Given the description of an element on the screen output the (x, y) to click on. 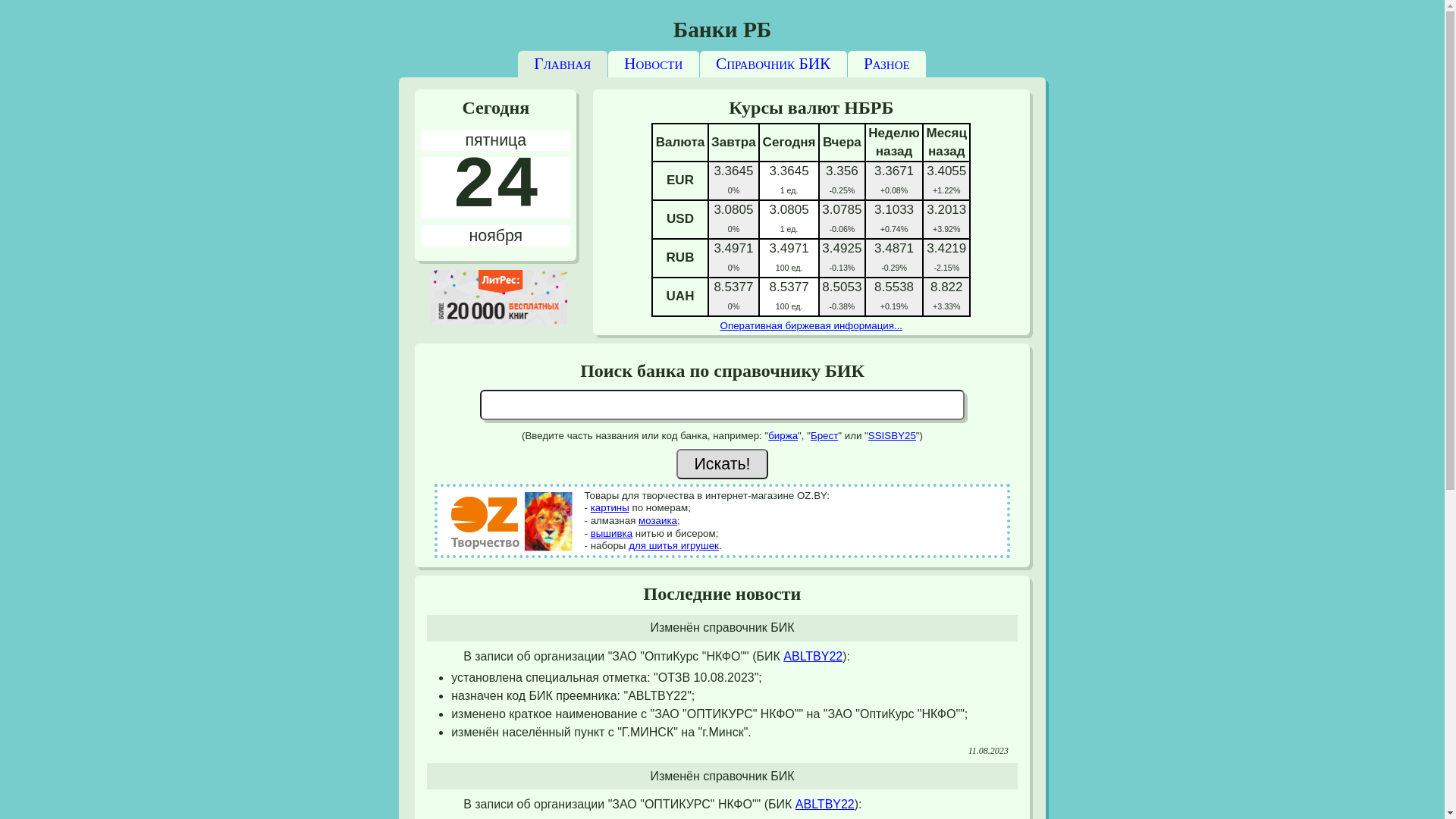
ABLTBY22 Element type: text (812, 655)
ABLTBY22 Element type: text (824, 803)
SSISBY25 Element type: text (892, 435)
